Given the description of an element on the screen output the (x, y) to click on. 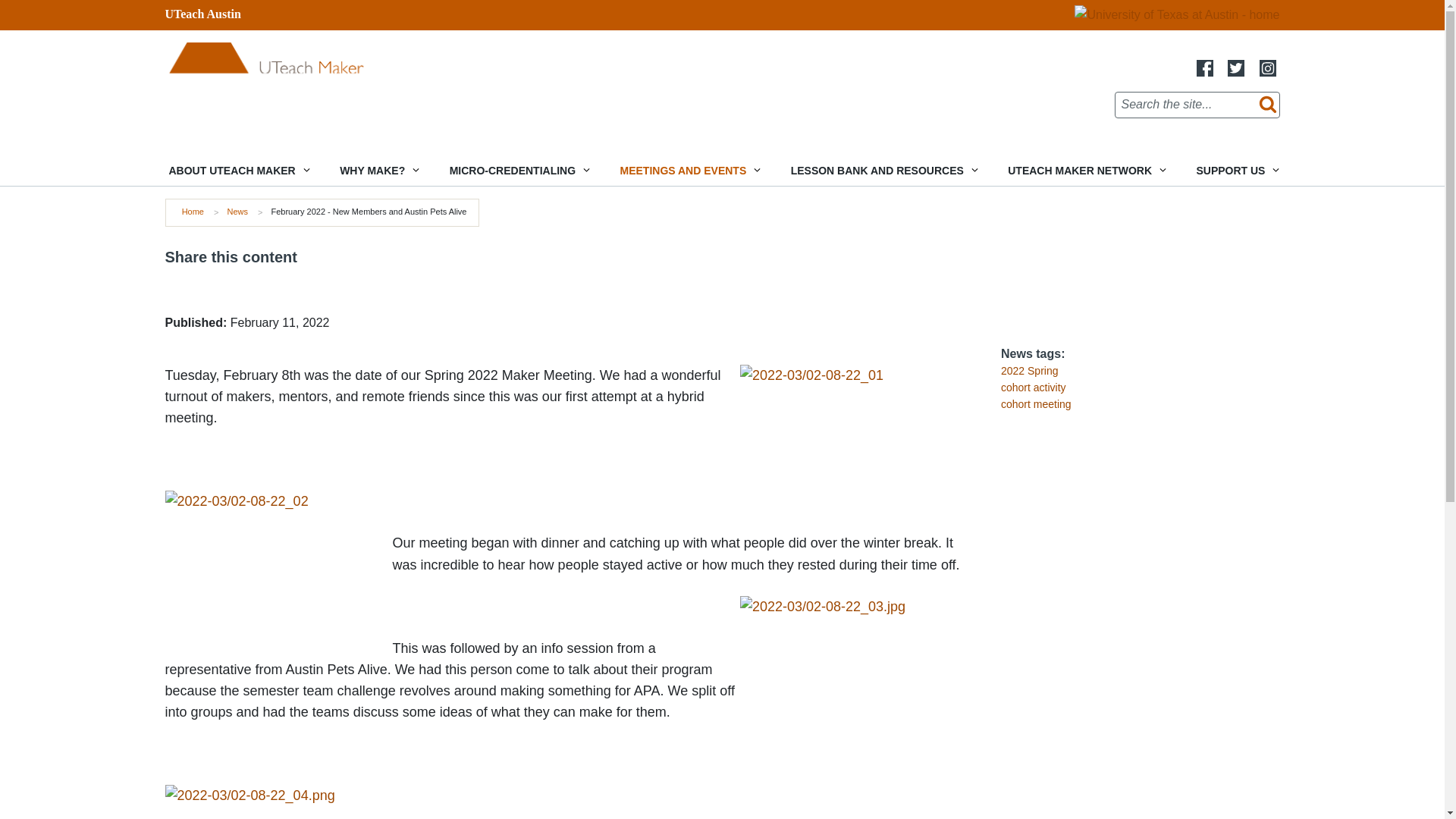
WHY MAKE? (377, 171)
Home (192, 211)
Home (323, 78)
Search (1264, 104)
News and Events (688, 171)
FacebookFind us on Facebook (1204, 66)
UTeach Austin (203, 13)
TwitterFind us on Twitter (1235, 67)
SUPPORT US (1236, 171)
MICRO-CREDENTIALING (517, 171)
